Given the description of an element on the screen output the (x, y) to click on. 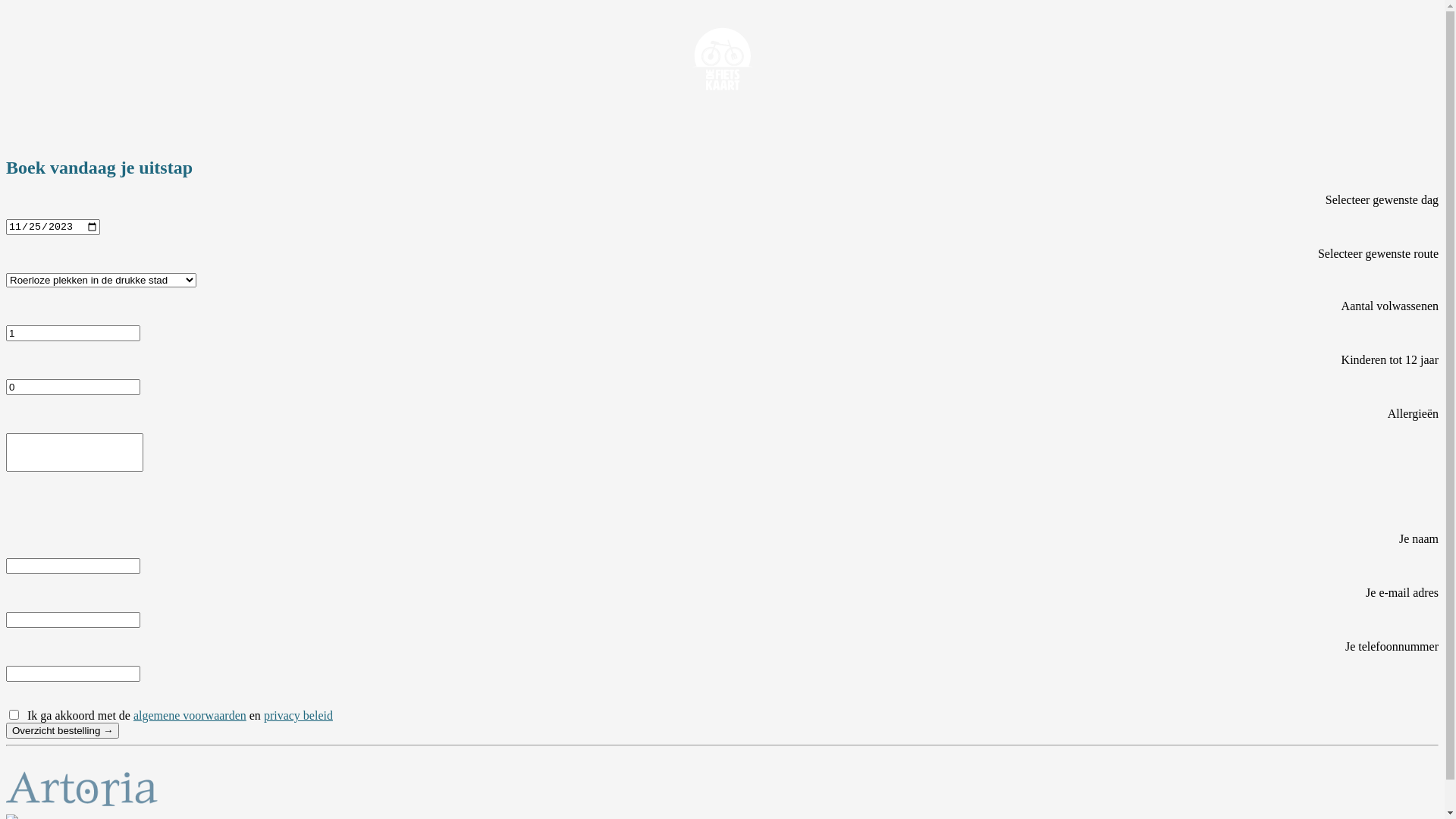
privacy beleid Element type: text (297, 715)
algemene voorwaarden Element type: text (189, 715)
